Given the description of an element on the screen output the (x, y) to click on. 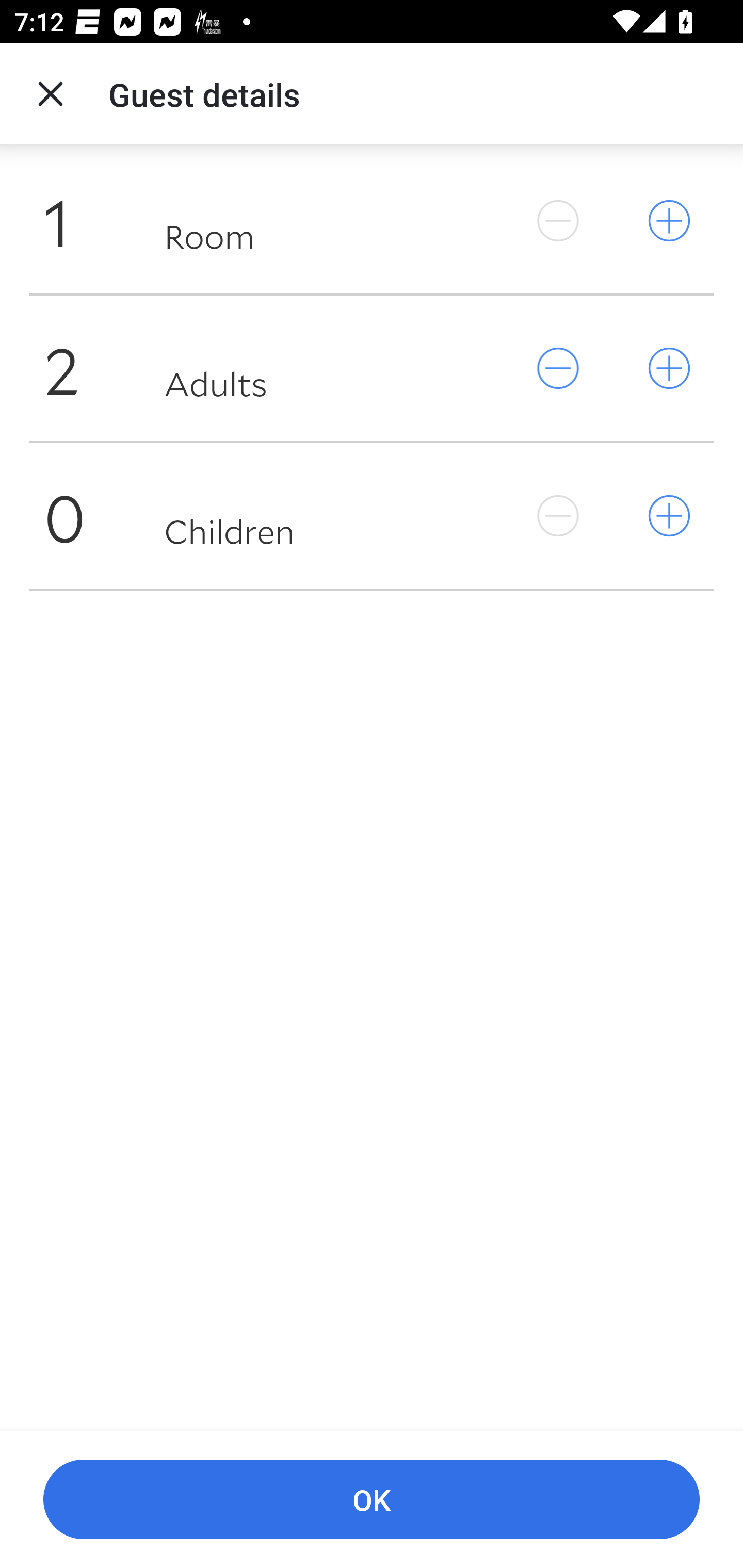
OK (371, 1499)
